Given the description of an element on the screen output the (x, y) to click on. 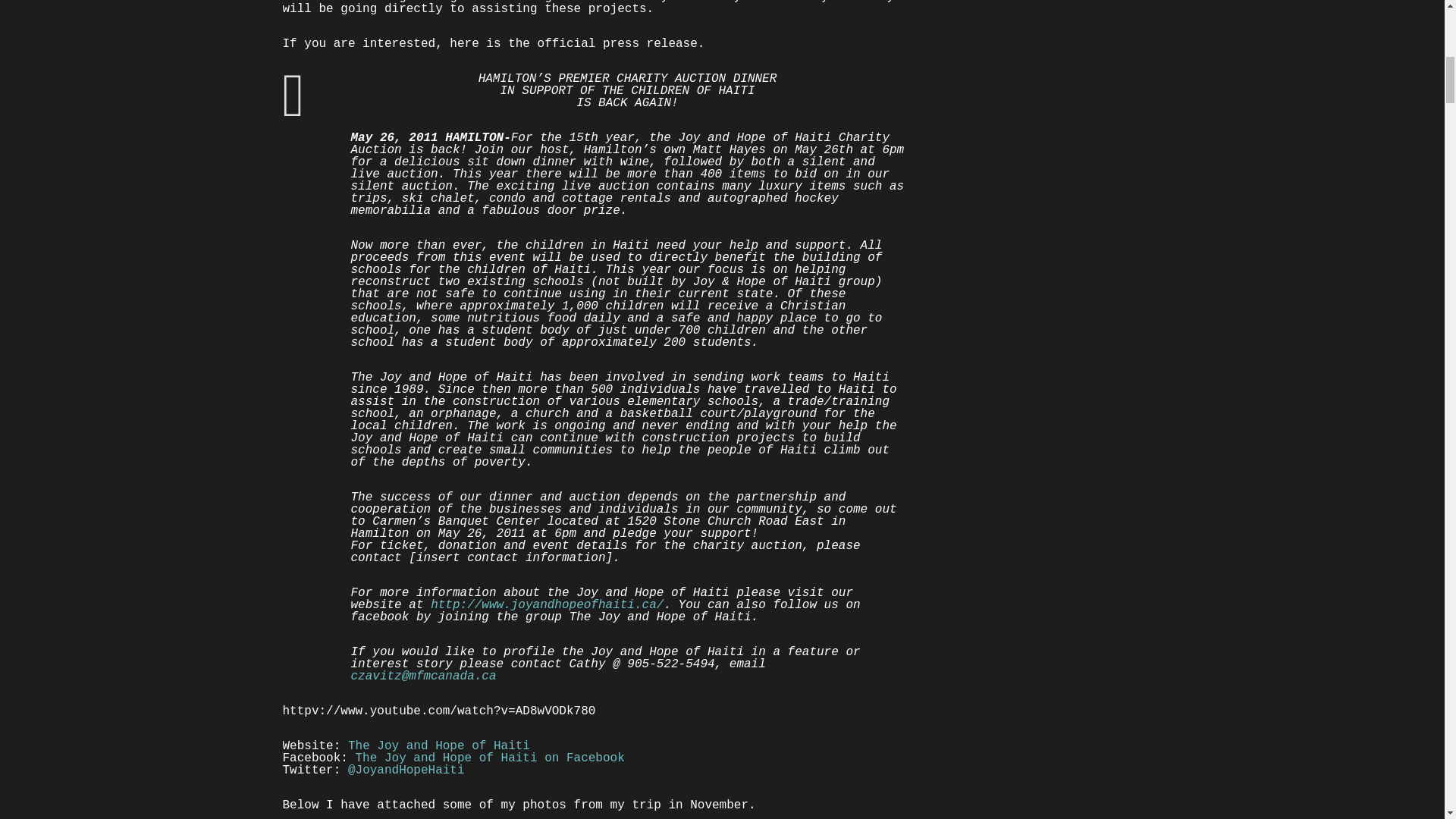
The Joy and Hope of Haiti (438, 745)
The Joy and Hope of Haiti on Facebook (489, 757)
